Given the description of an element on the screen output the (x, y) to click on. 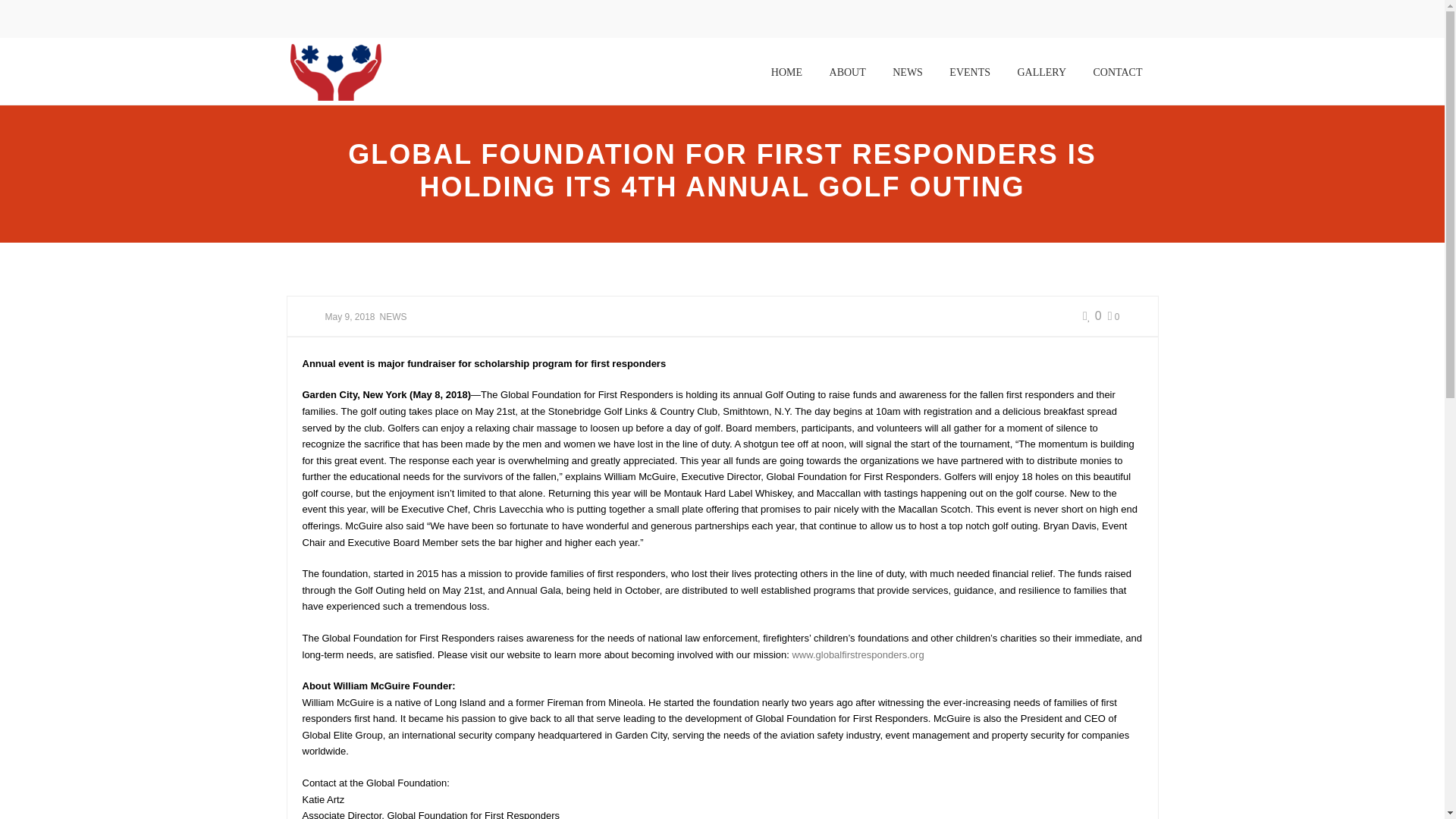
HOME (786, 71)
NEWS (393, 317)
EVENTS (969, 71)
May 9, 2018 (349, 317)
Global Foundation for First Responders (334, 71)
NEWS (907, 71)
ABOUT (847, 71)
CONTACT (1117, 71)
www.globalfirstresponders.org (857, 654)
GALLERY (1041, 71)
